Given the description of an element on the screen output the (x, y) to click on. 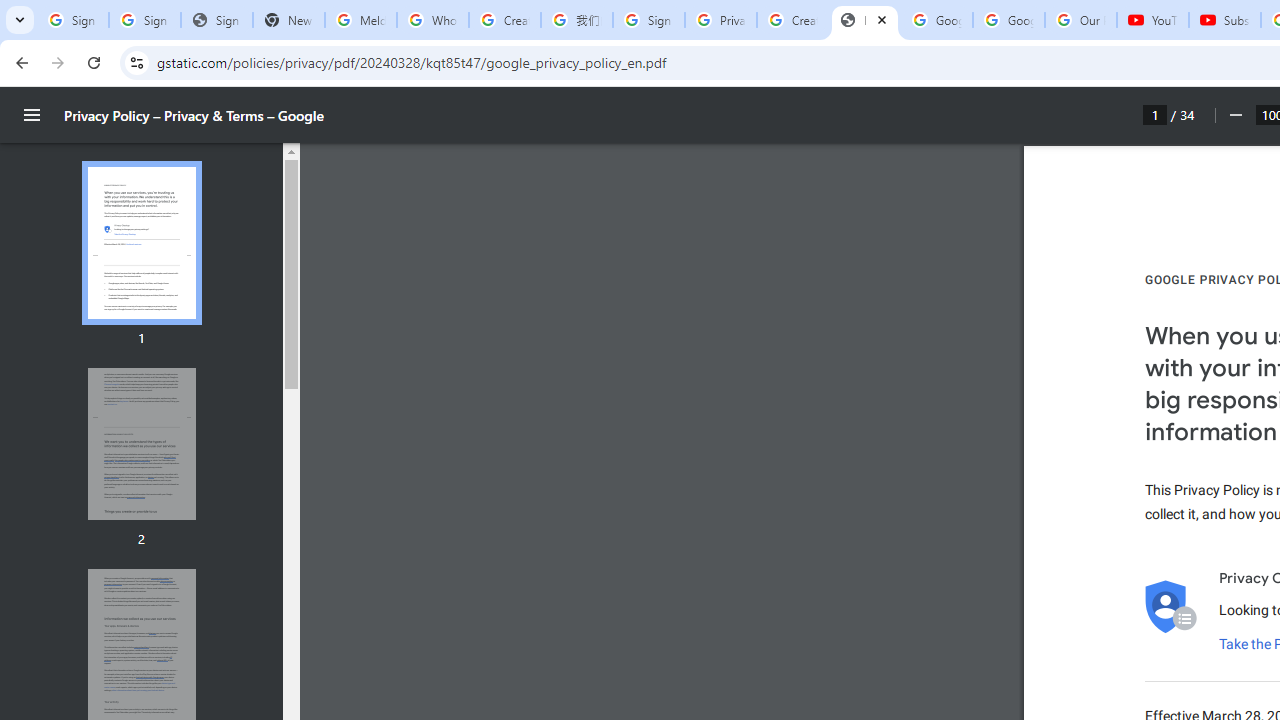
New Tab (289, 20)
